Given the description of an element on the screen output the (x, y) to click on. 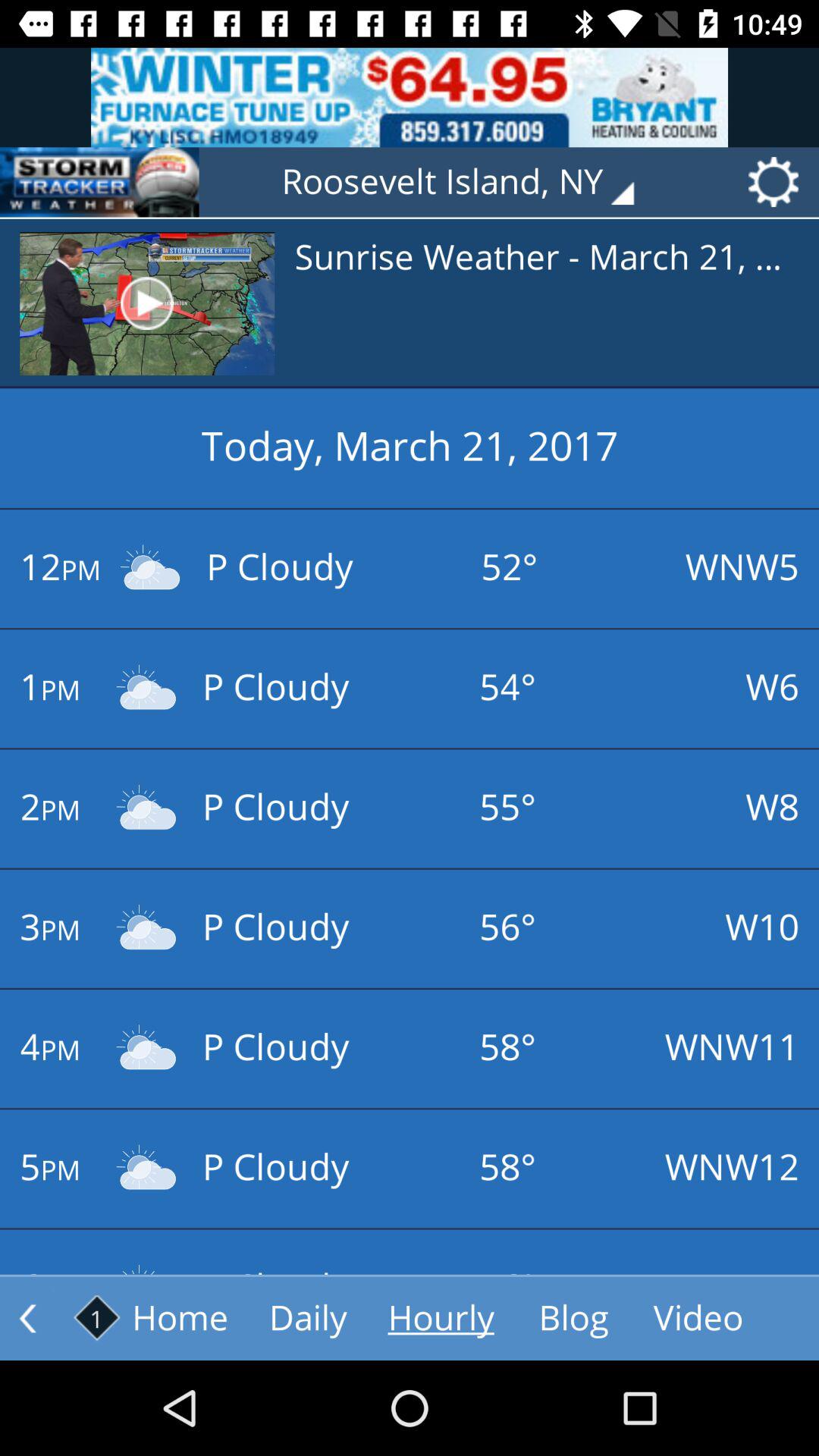
advertisement (409, 97)
